Given the description of an element on the screen output the (x, y) to click on. 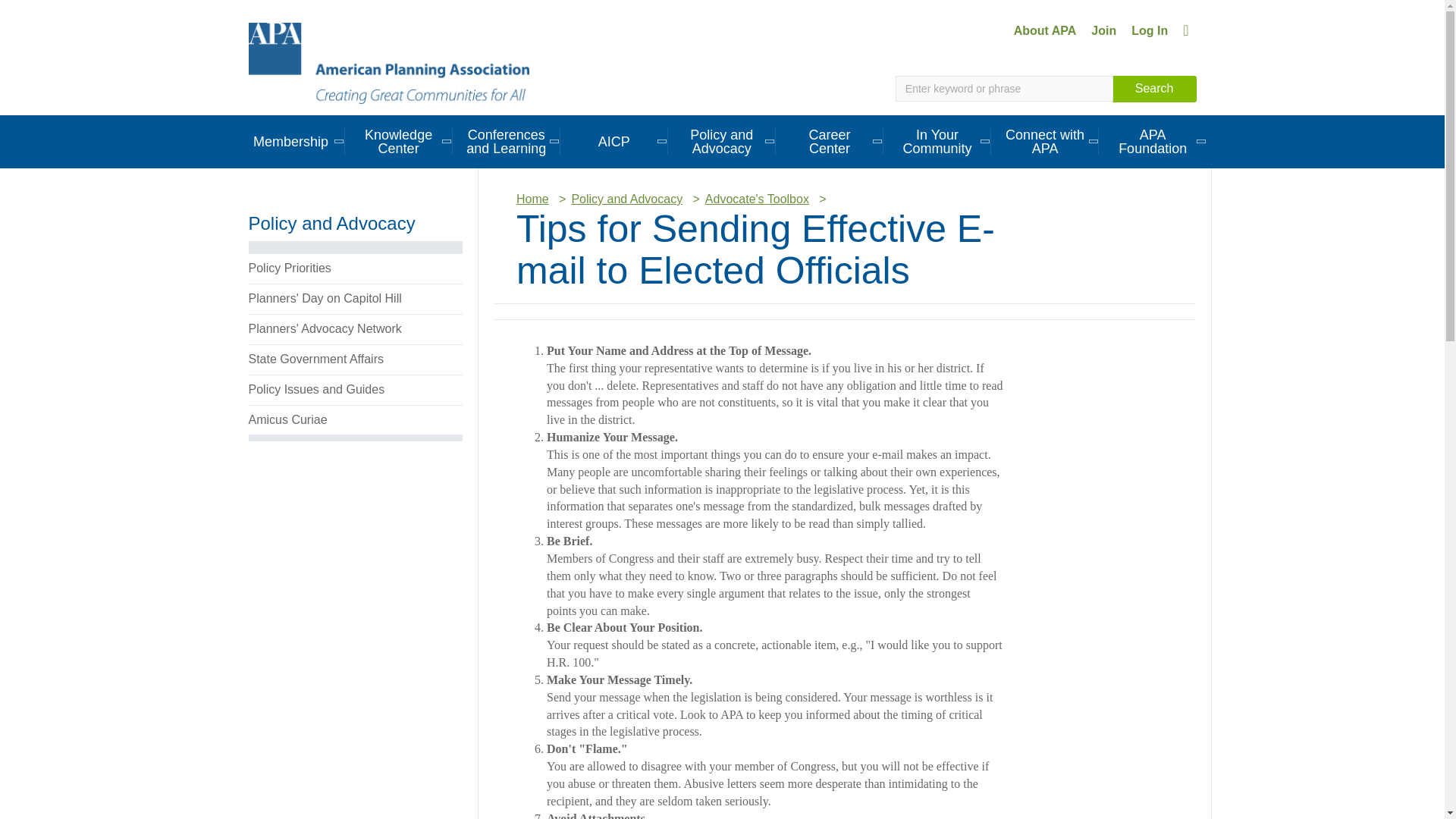
About APA (1045, 30)
Membership (289, 141)
Join (1103, 30)
Conferences and Learning (506, 141)
Knowledge Center (398, 141)
About APA (1045, 30)
Policy and Advocacy (722, 141)
In Your Community (937, 141)
AICP (614, 141)
APA Foundation (1153, 141)
Log In (1149, 30)
Log In (1149, 30)
Career Center (829, 141)
Connect with APA (1045, 141)
Join (1103, 30)
